Given the description of an element on the screen output the (x, y) to click on. 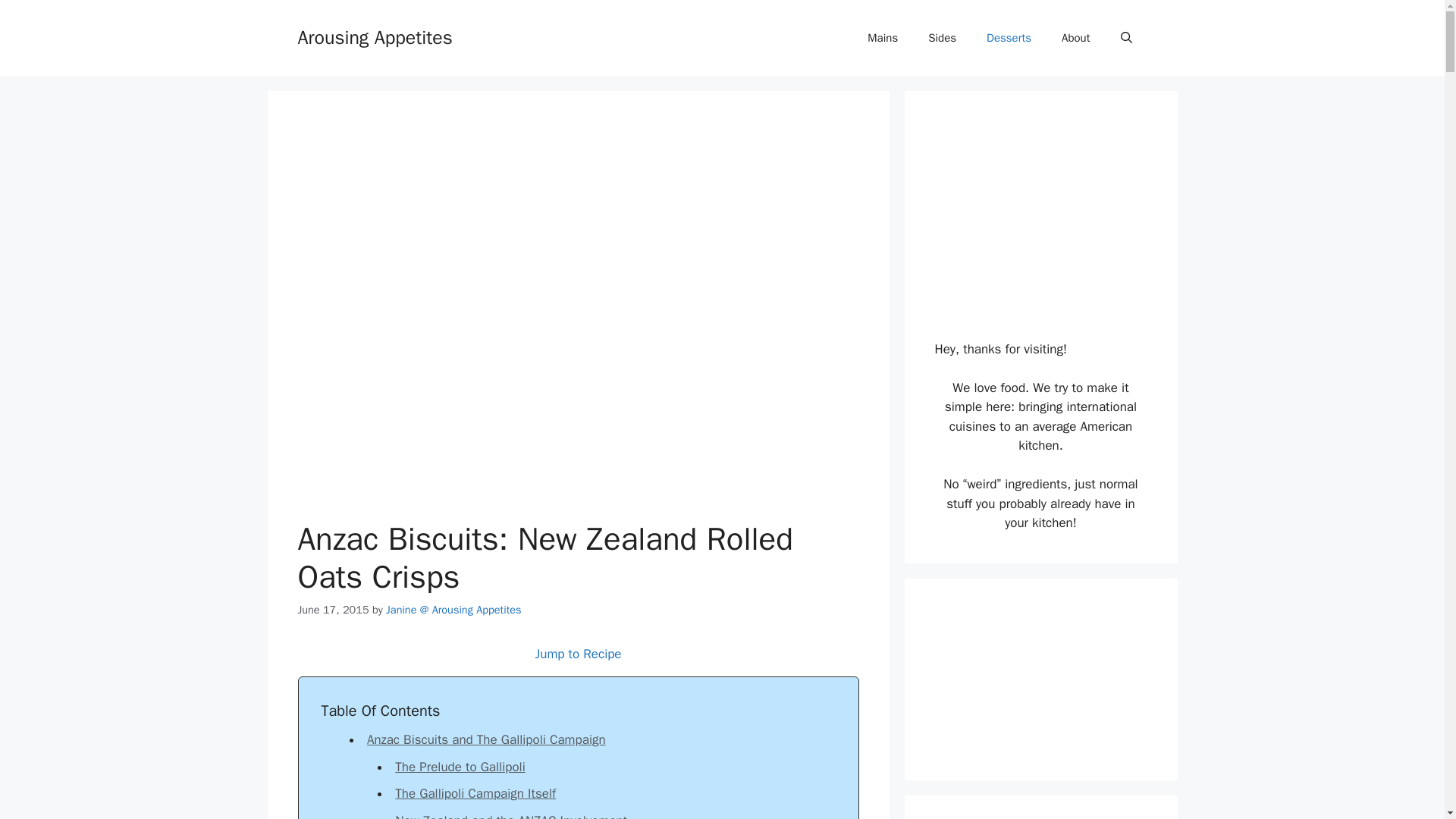
Jump to Recipe (577, 654)
About (1075, 37)
Anzac Biscuits and The Gallipoli Campaign (485, 739)
Jump to Recipe (577, 654)
Mains (881, 37)
Desserts (1008, 37)
The Prelude to Gallipoli (459, 766)
New Zealand and the ANZAC Involvement (510, 816)
The Gallipoli Campaign Itself (475, 793)
Sides (941, 37)
Arousing Appetites (374, 37)
